Given the description of an element on the screen output the (x, y) to click on. 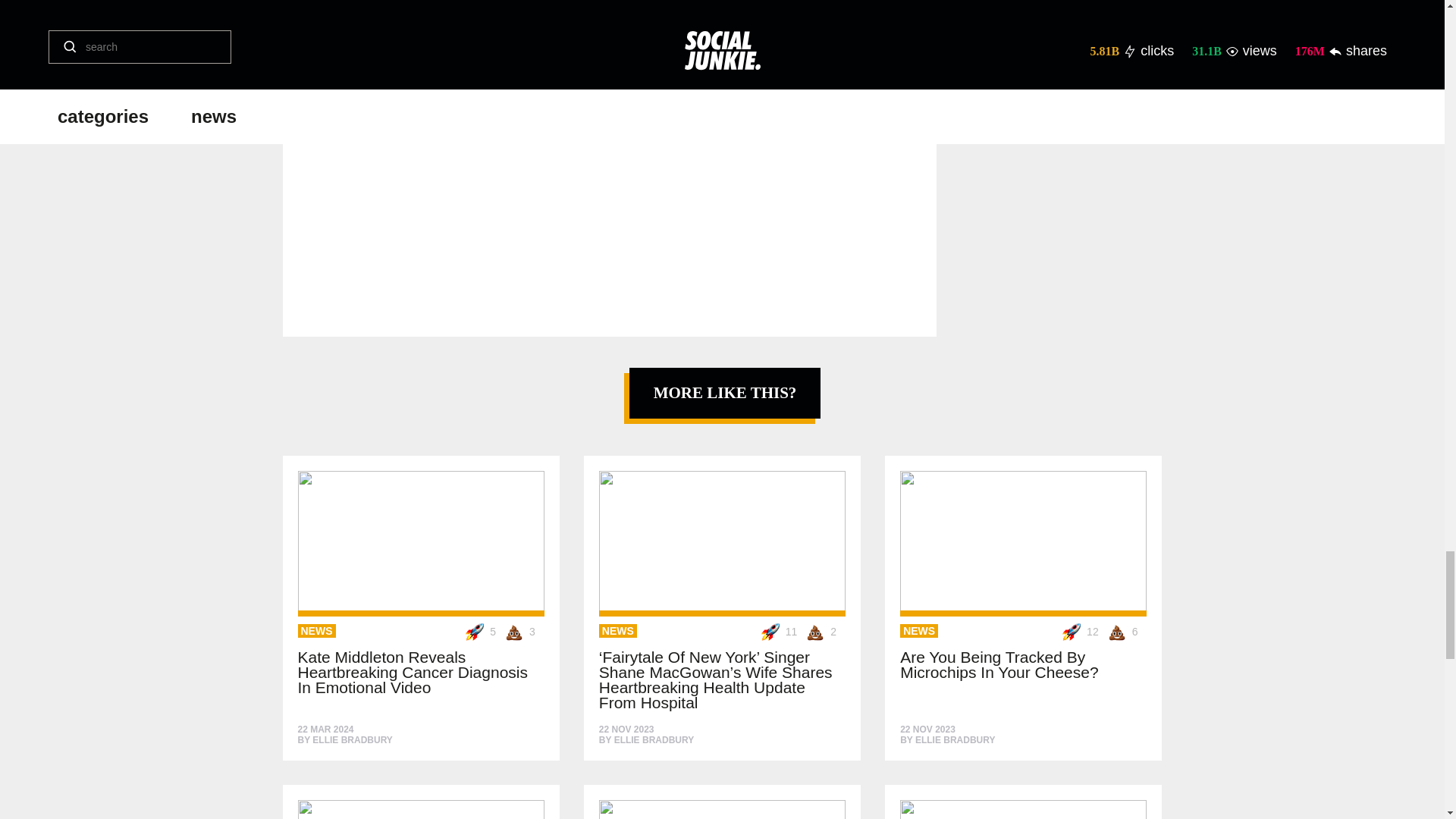
MORE NEWS (716, 6)
Trash (333, 55)
2 BOOSTS (333, 5)
Fire (333, 5)
1 BINS (333, 55)
